Given the description of an element on the screen output the (x, y) to click on. 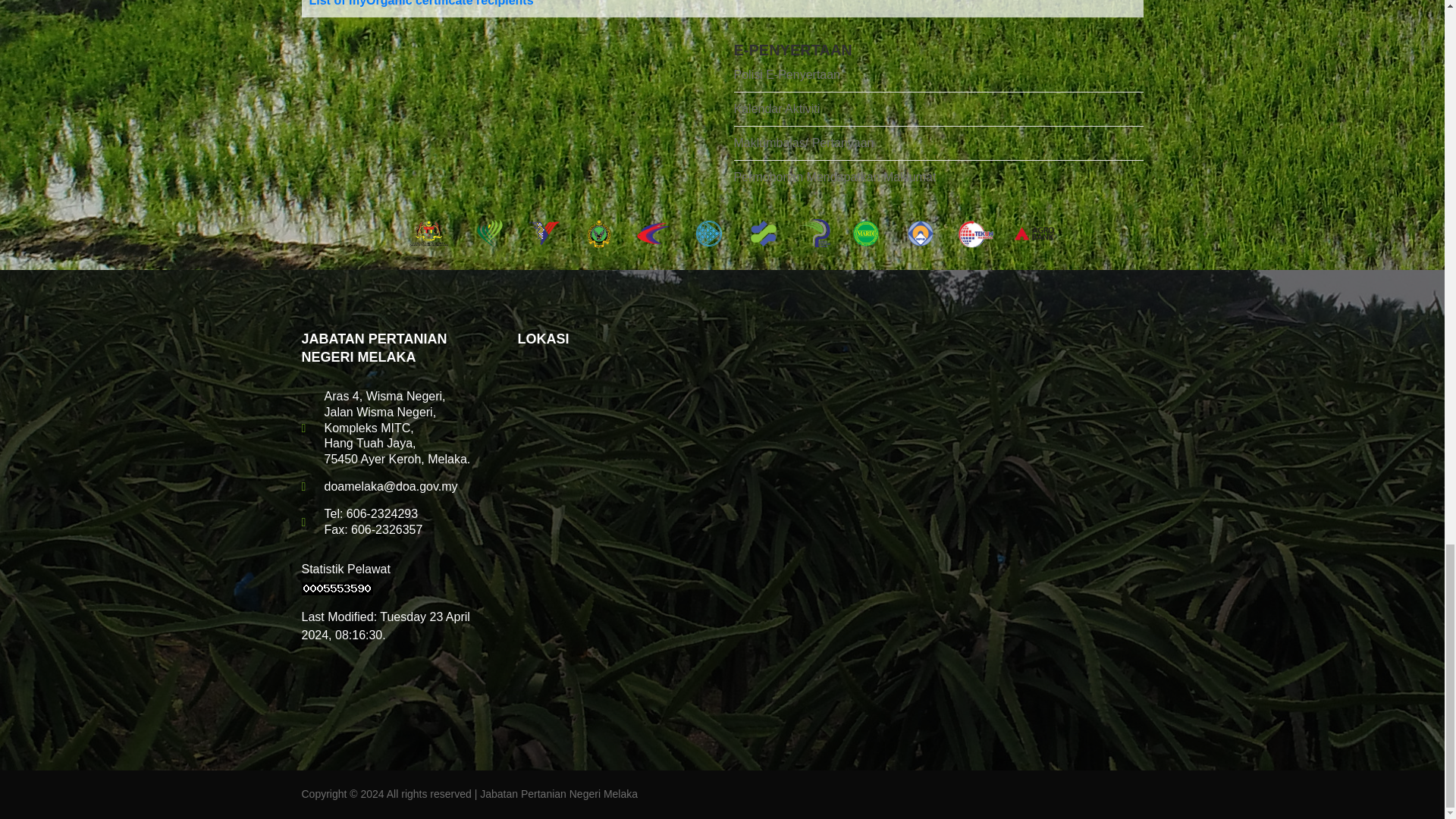
Polisi E-Penyertaan (937, 79)
Kalendar Aktiviti (937, 109)
Permohonan Mendapatkan Maklumat (937, 173)
List of myOrganic certificate recipients (421, 3)
